Given the description of an element on the screen output the (x, y) to click on. 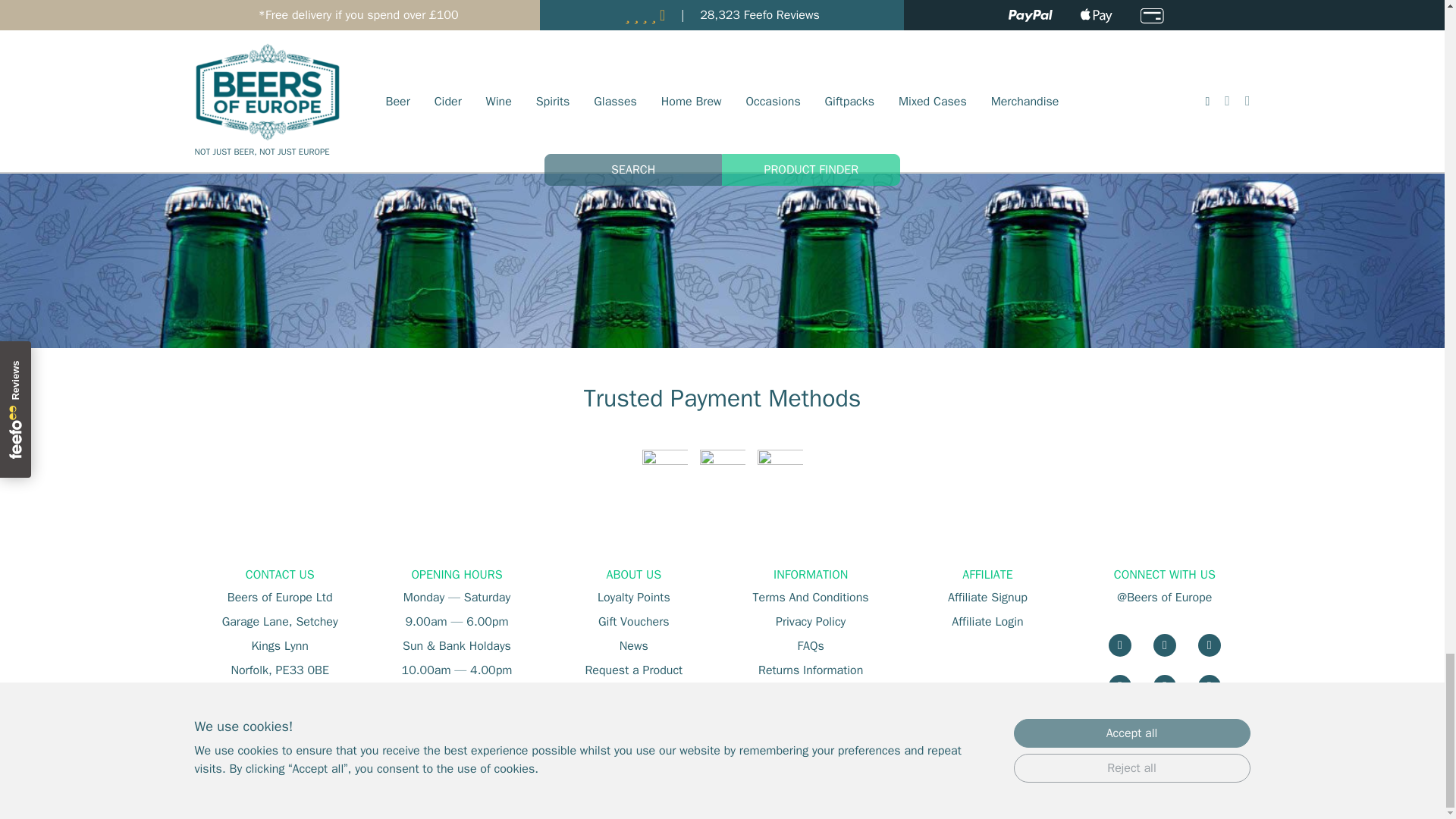
Maestro (779, 472)
Mastercard (721, 472)
Subscribe (721, 96)
Visa (664, 472)
